Given the description of an element on the screen output the (x, y) to click on. 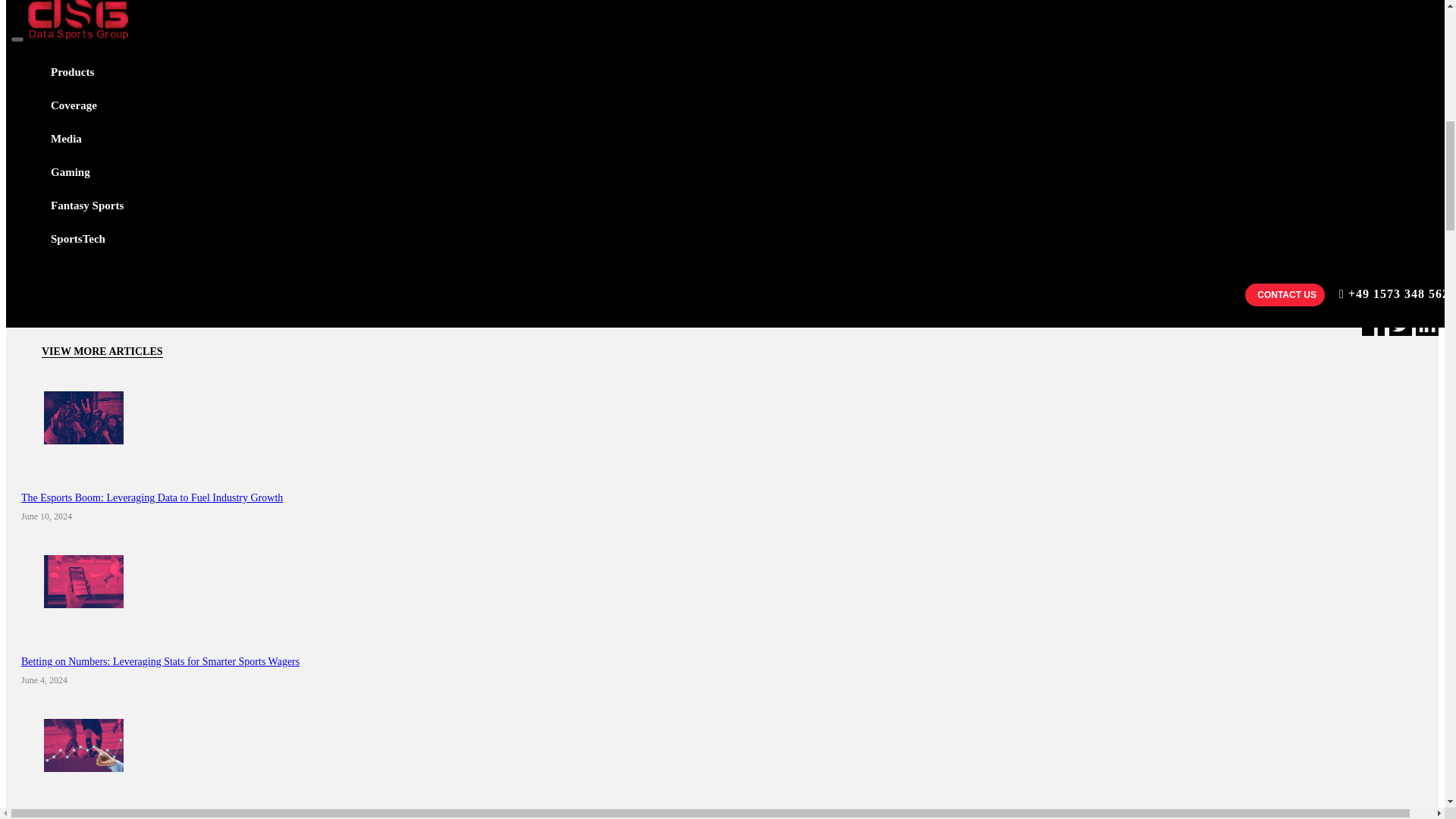
The Esports Boom: Leveraging Data to Fuel Industry Growth (151, 497)
Data Sports Group (204, 213)
sports data analysts (1302, 50)
